Given the description of an element on the screen output the (x, y) to click on. 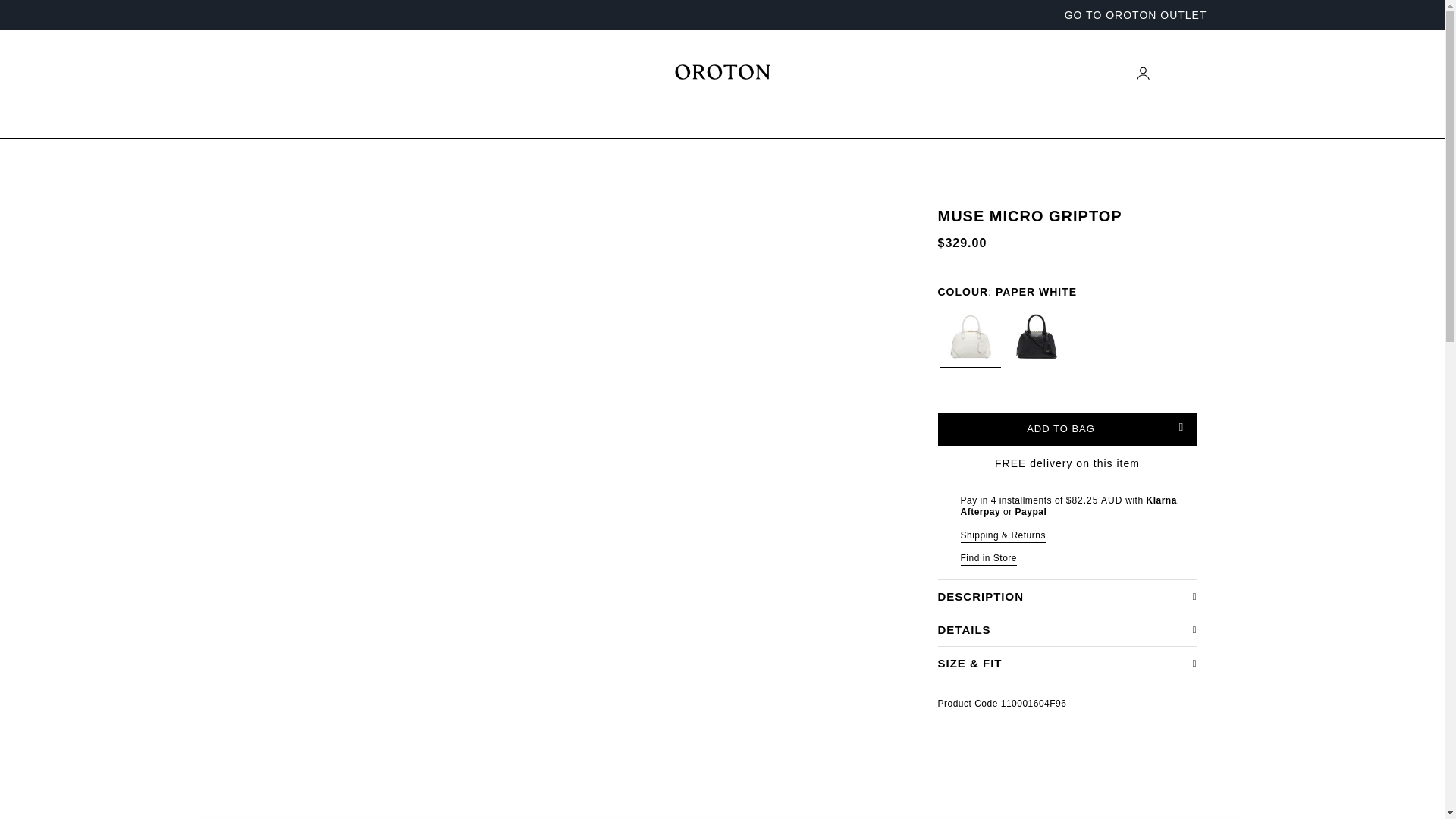
GO TO OROTON OUTLET (1135, 15)
Add to bag (1051, 428)
Oroton (721, 71)
